Given the description of an element on the screen output the (x, y) to click on. 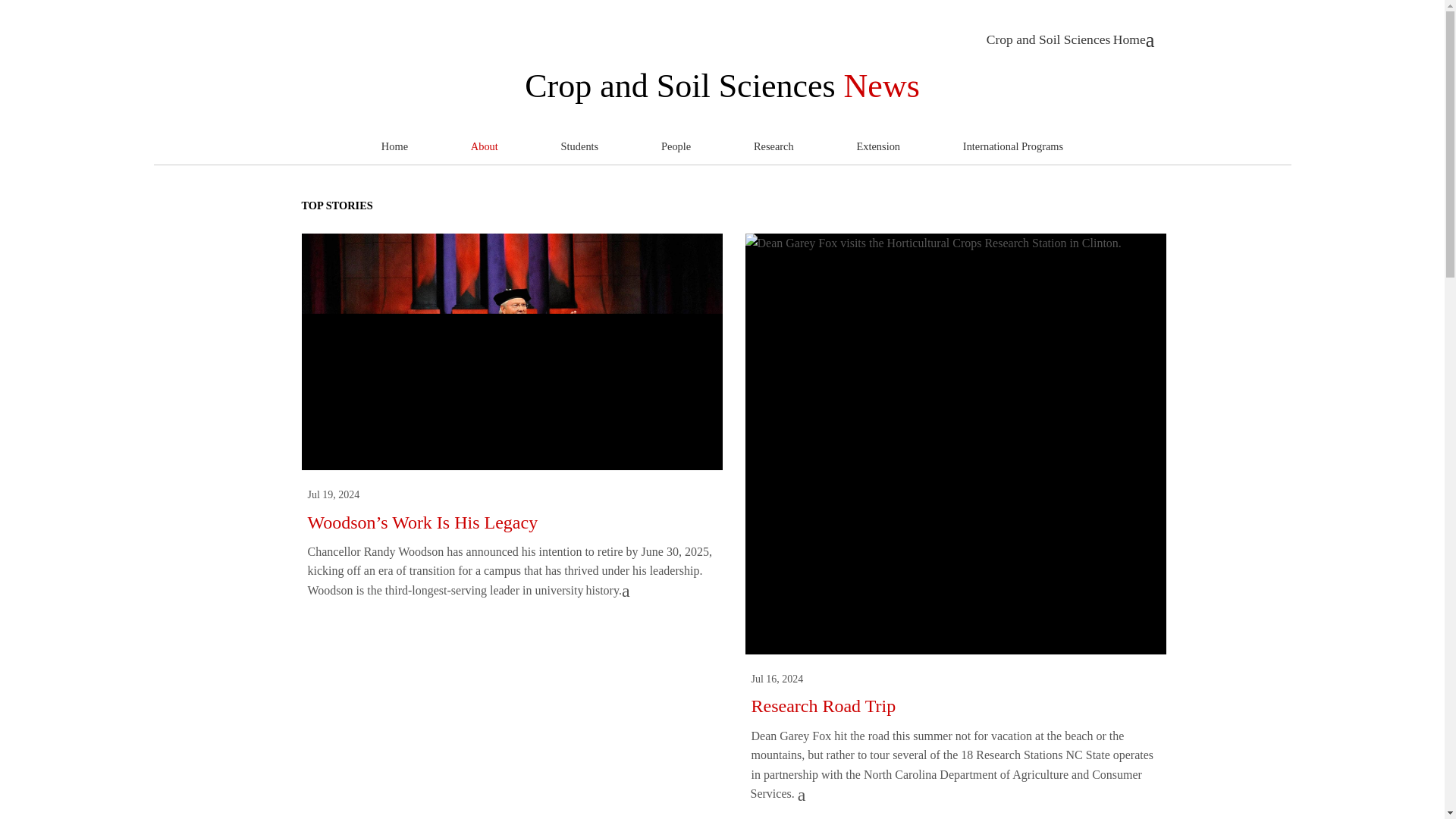
Crop and Soil Sciences Home (1070, 38)
Research (773, 146)
People (675, 146)
Extension (878, 146)
Students (579, 146)
Home (394, 146)
International Programs (1013, 146)
About (484, 146)
Crop and Soil Sciences News (722, 85)
